Given the description of an element on the screen output the (x, y) to click on. 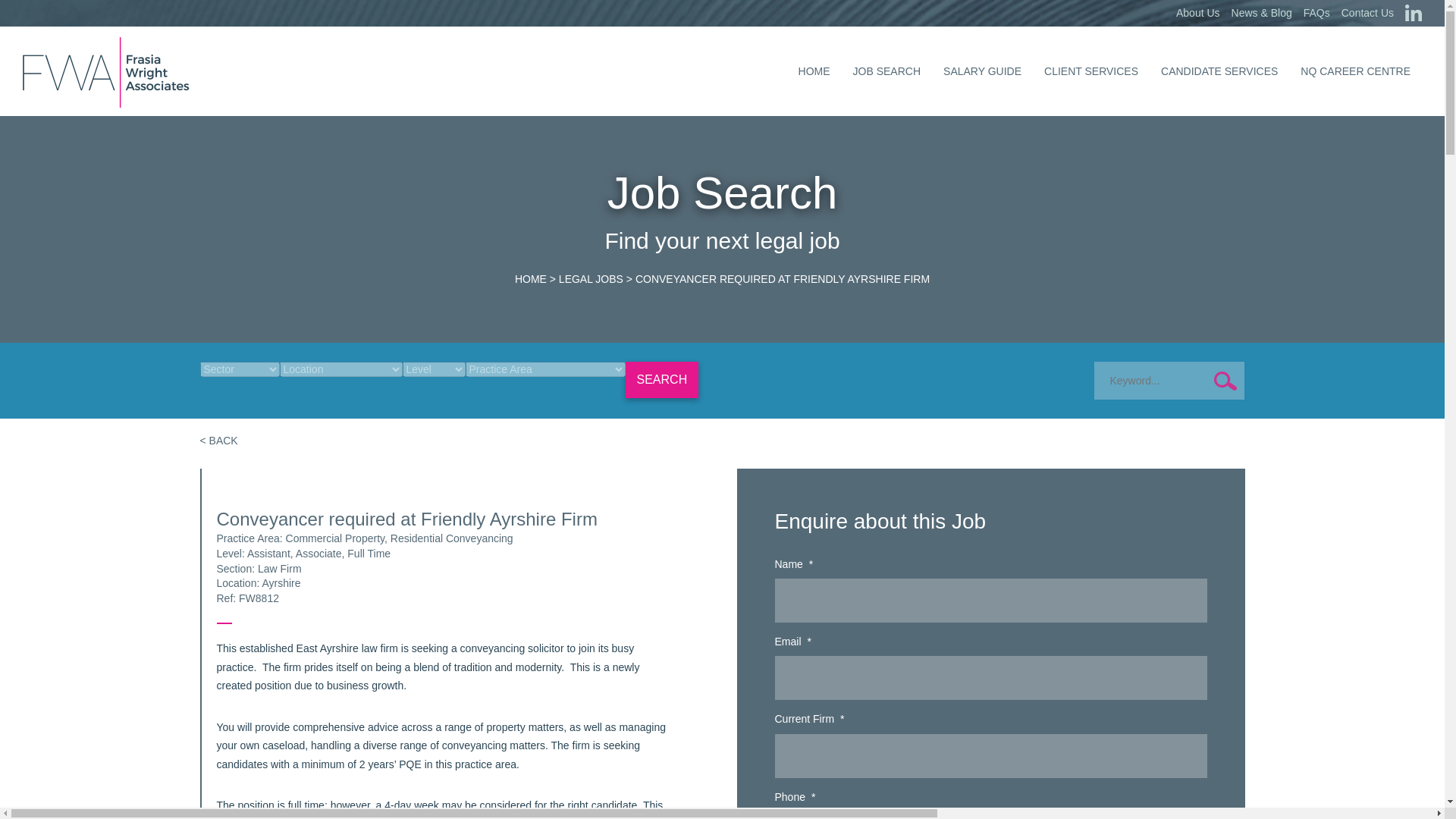
JOB SEARCH (886, 71)
Contact Us (1367, 13)
CANDIDATE SERVICES (1219, 71)
About Us (1197, 13)
FAQs (1316, 13)
CLIENT SERVICES (1091, 71)
NQ CAREER CENTRE (1355, 71)
SALARY GUIDE (981, 71)
SEARCH (661, 379)
